Given the description of an element on the screen output the (x, y) to click on. 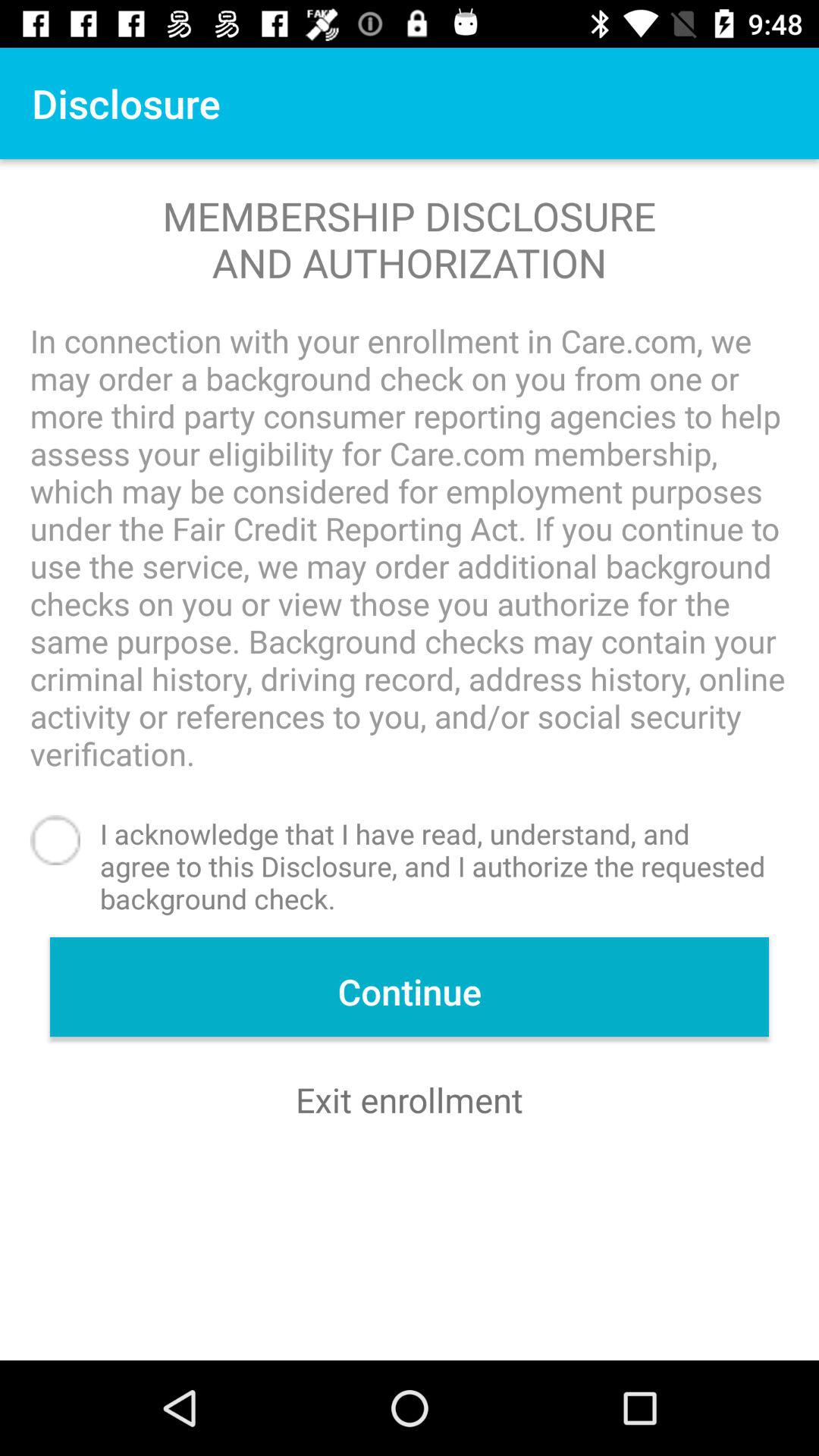
flip to the exit enrollment item (409, 1099)
